Given the description of an element on the screen output the (x, y) to click on. 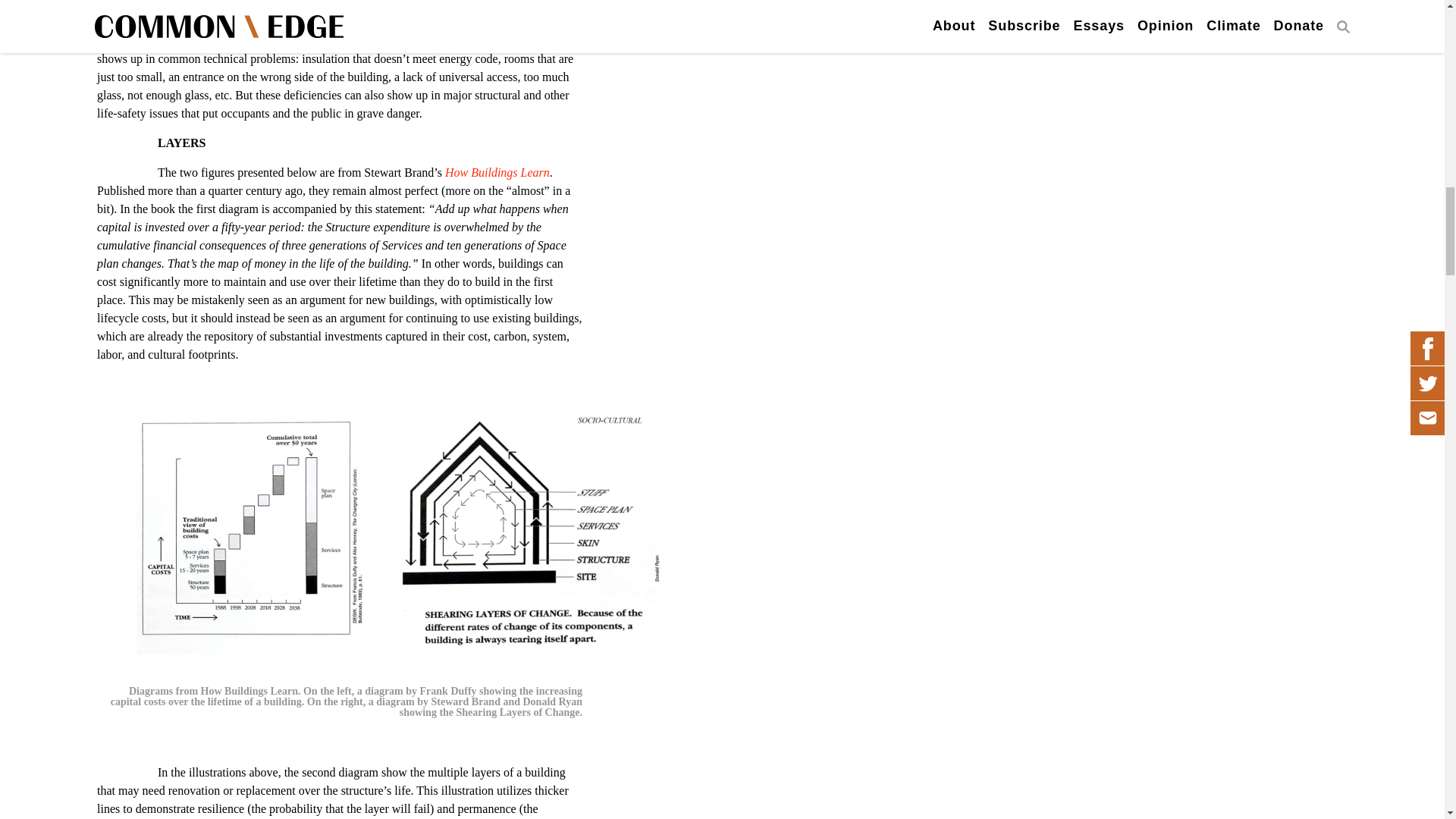
How Buildings Learn (496, 172)
